Given the description of an element on the screen output the (x, y) to click on. 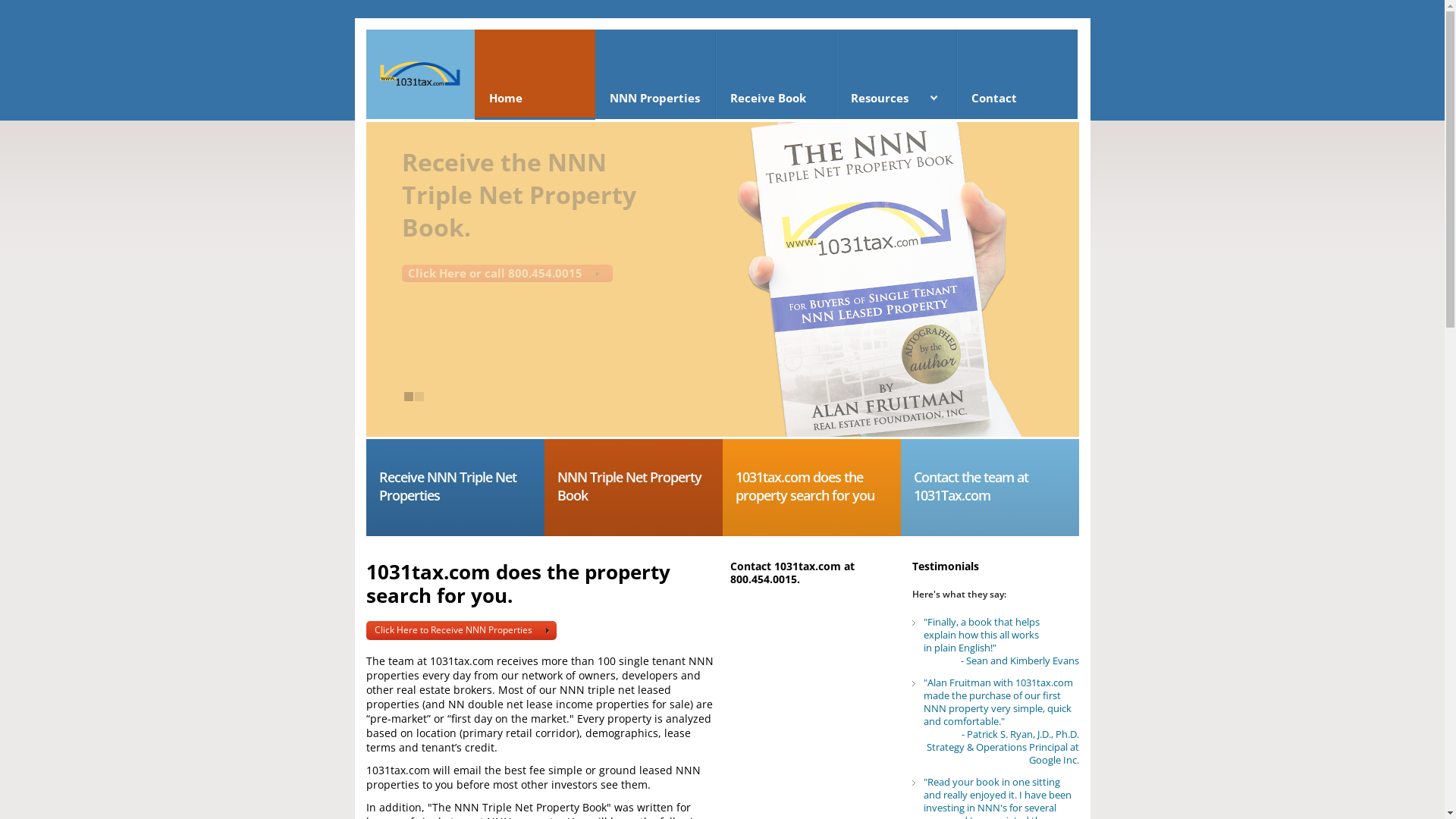
Receive Book Element type: text (775, 74)
Resources Element type: text (895, 74)
NNN Properties Element type: text (654, 74)
Receive NNN Triple Net Properties Element type: text (454, 487)
Home Element type: text (534, 74)
1 Element type: text (407, 396)
1031tax.com does the property search for you Element type: text (810, 487)
Contact Element type: text (1017, 74)
2 Element type: text (418, 396)
Click Here or call 800.454.0015 Element type: text (506, 273)
NNN Triple Net Property Book Element type: text (633, 487)
Click Here to Receive NNN Properties Element type: text (460, 630)
Contact the team at 1031Tax.com Element type: text (989, 487)
